Given the description of an element on the screen output the (x, y) to click on. 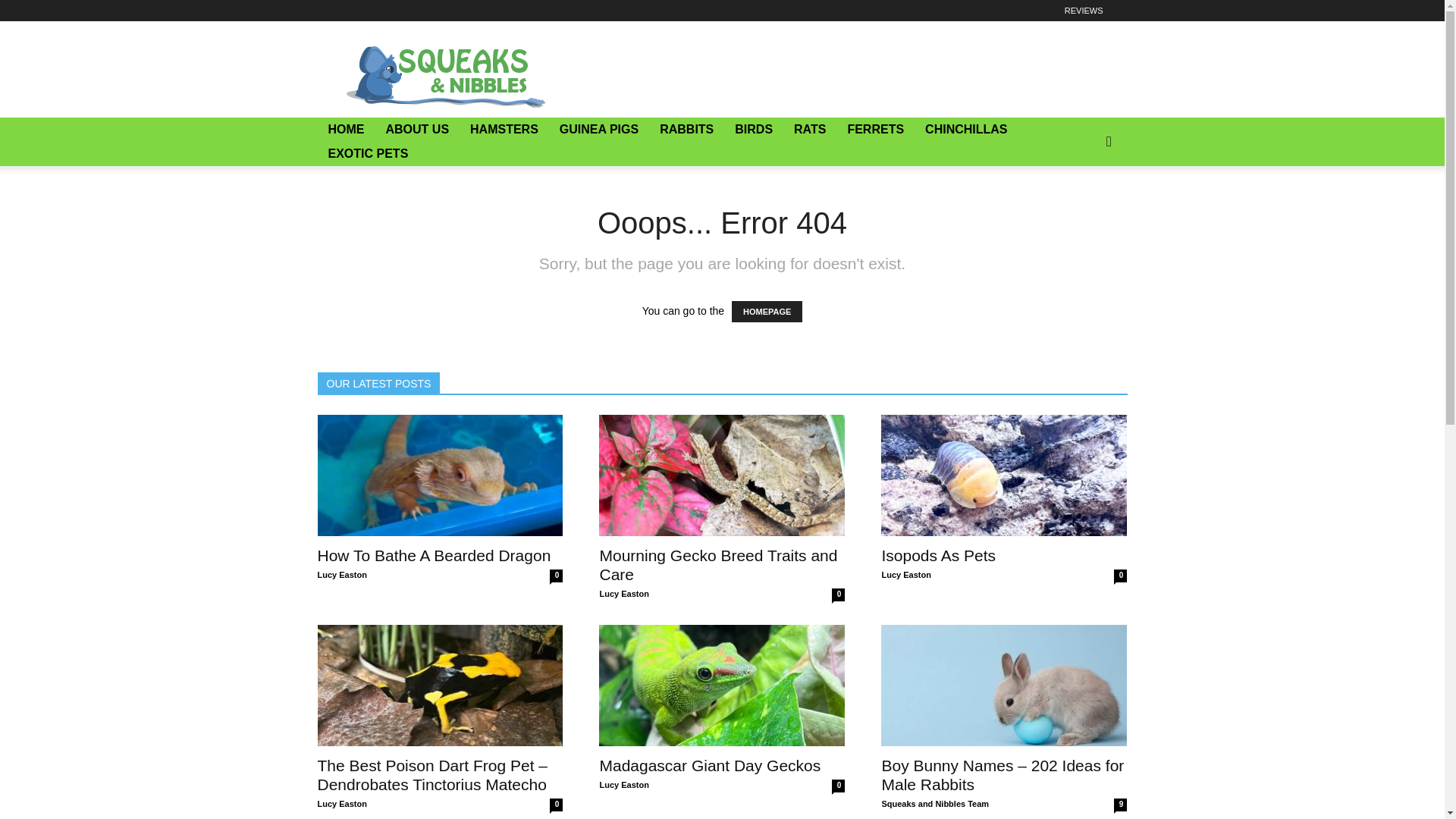
REVIEWS (1083, 10)
RABBITS (686, 129)
Madagascar Giant Day Geckos (721, 685)
0 (556, 575)
EXOTIC PETS (368, 153)
0 (837, 594)
GUINEA PIGS (598, 129)
Lucy Easton (622, 593)
How To Bathe A Bearded Dragon (433, 555)
Mourning Gecko Breed Traits and Care (721, 475)
